Given the description of an element on the screen output the (x, y) to click on. 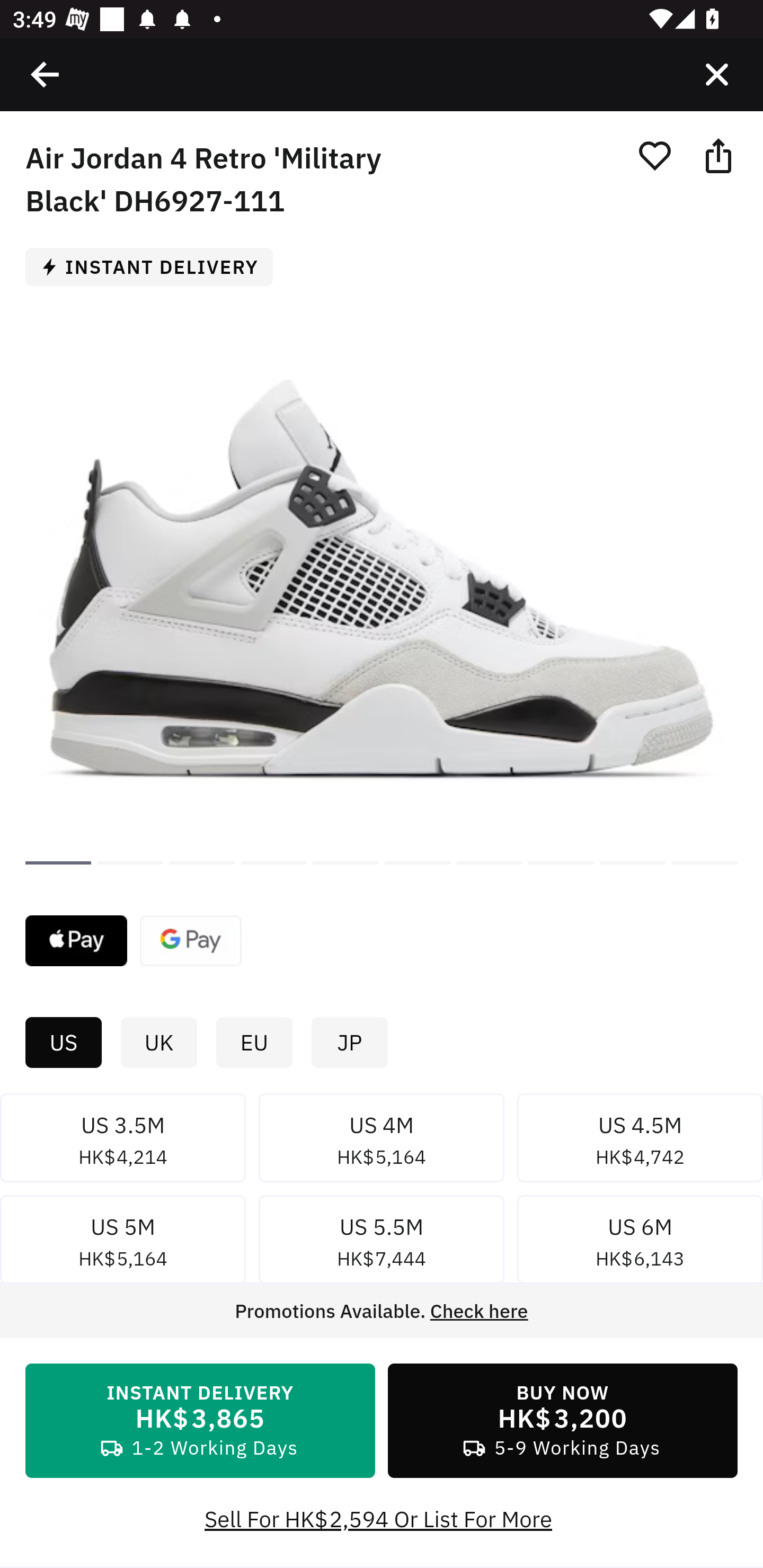
 (46, 74)
 (716, 74)
wishlist (654, 155)
INSTANT DELIVERY (155, 266)
Air Jordan 4 Retro 'Military Black' DH6927‑111 (58, 861)
US (63, 1042)
UK (158, 1042)
EU (253, 1042)
JP (349, 1042)
US 3.5M HK$ 4,214 (122, 1140)
US 4M HK$ 5,164 (381, 1140)
US 4.5M HK$ 4,742 (639, 1140)
US 5M HK$ 5,164 (122, 1242)
US 5.5M HK$ 7,444 (381, 1242)
US 6M HK$ 6,143 (639, 1242)
Promotions Available. Check here (381, 1310)
INSTANT DELIVERY HK$ 3,865 1-2 Working Days (200, 1421)
BUY NOW HK$ 3,200 5-9 Working Days (562, 1421)
Sell For HK$ 2,594 Or List For More (381, 1519)
